Given the description of an element on the screen output the (x, y) to click on. 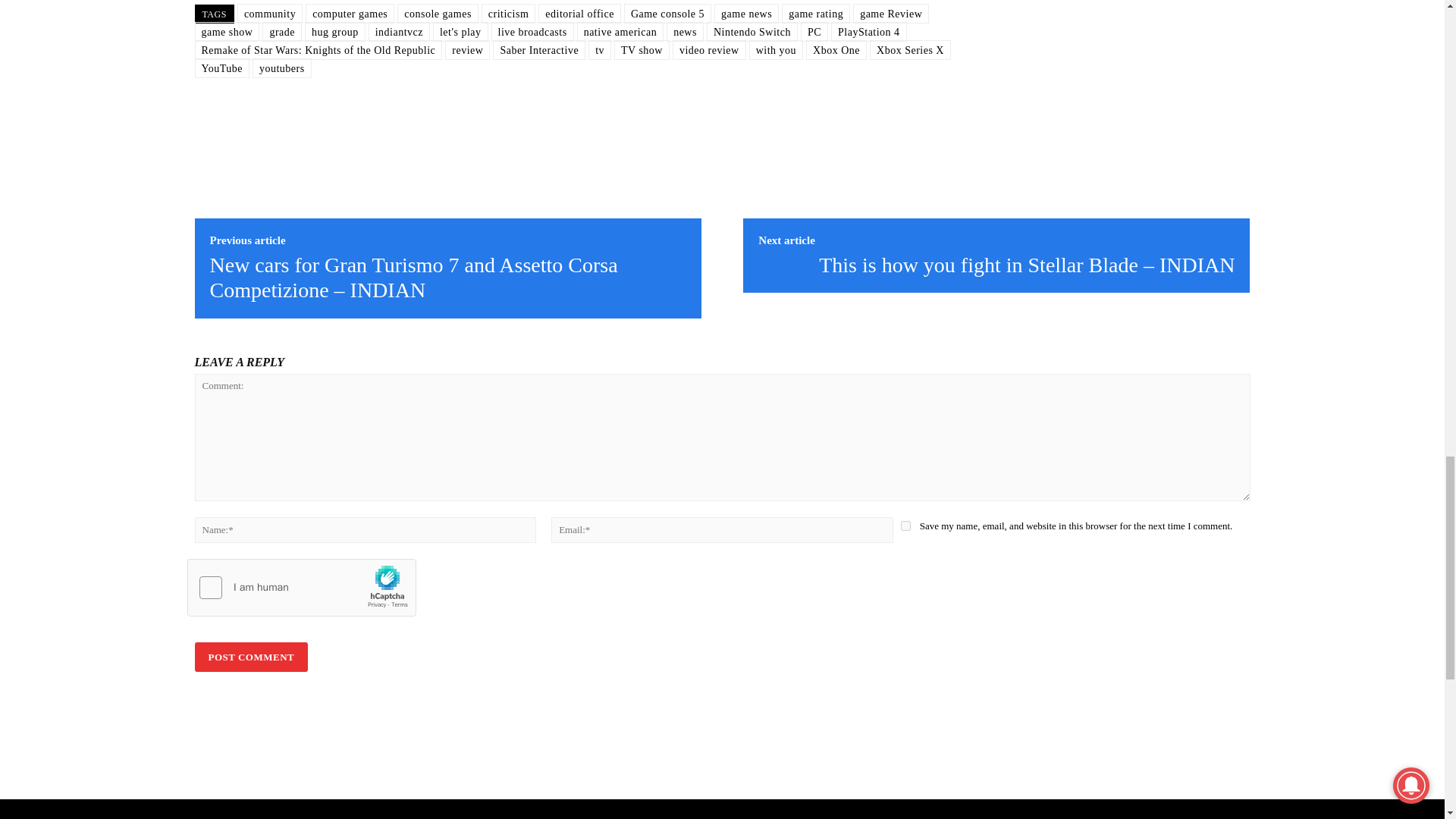
yes (906, 525)
Post Comment (250, 656)
